Given the description of an element on the screen output the (x, y) to click on. 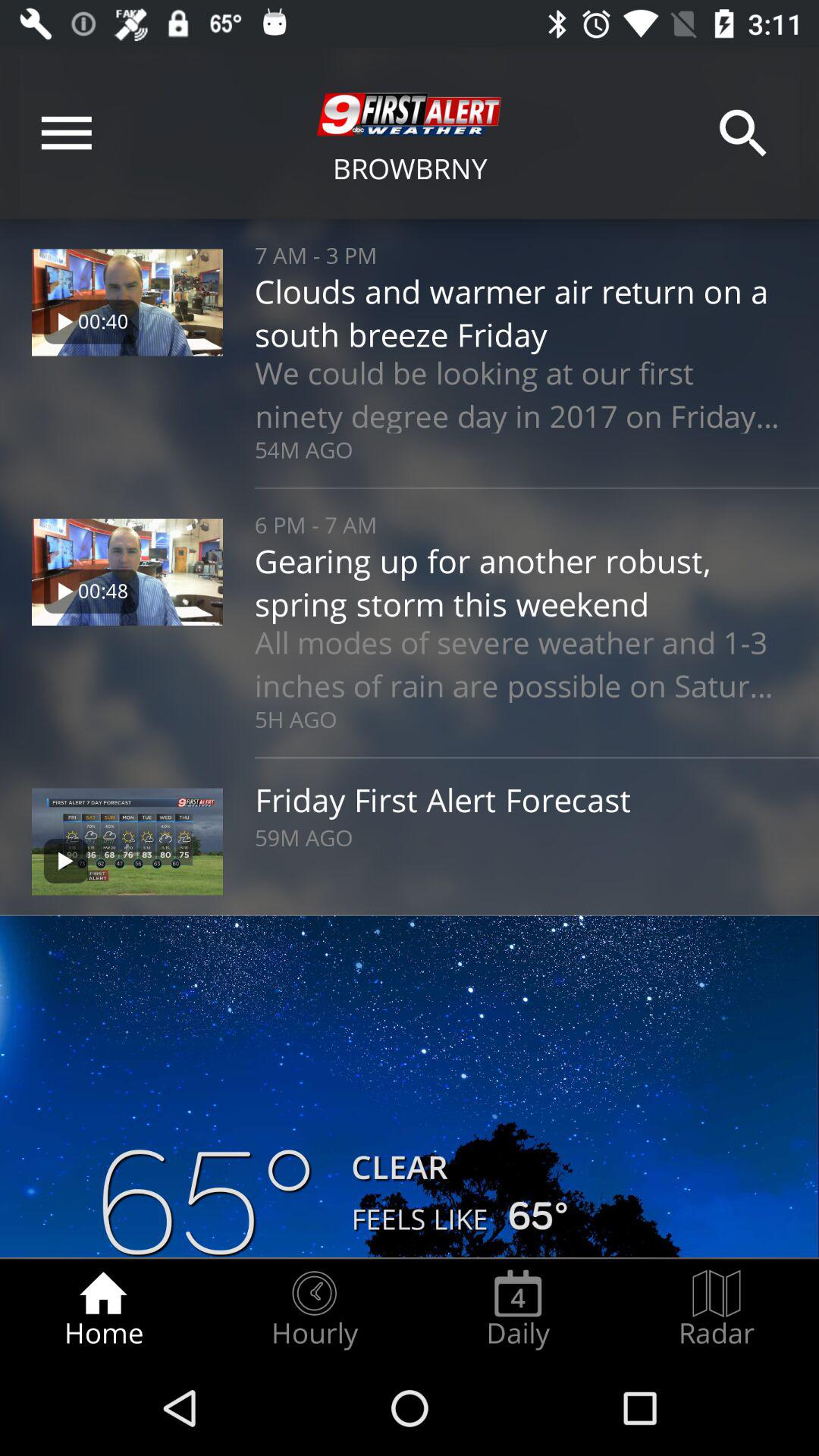
tap icon next to the radar icon (518, 1309)
